Given the description of an element on the screen output the (x, y) to click on. 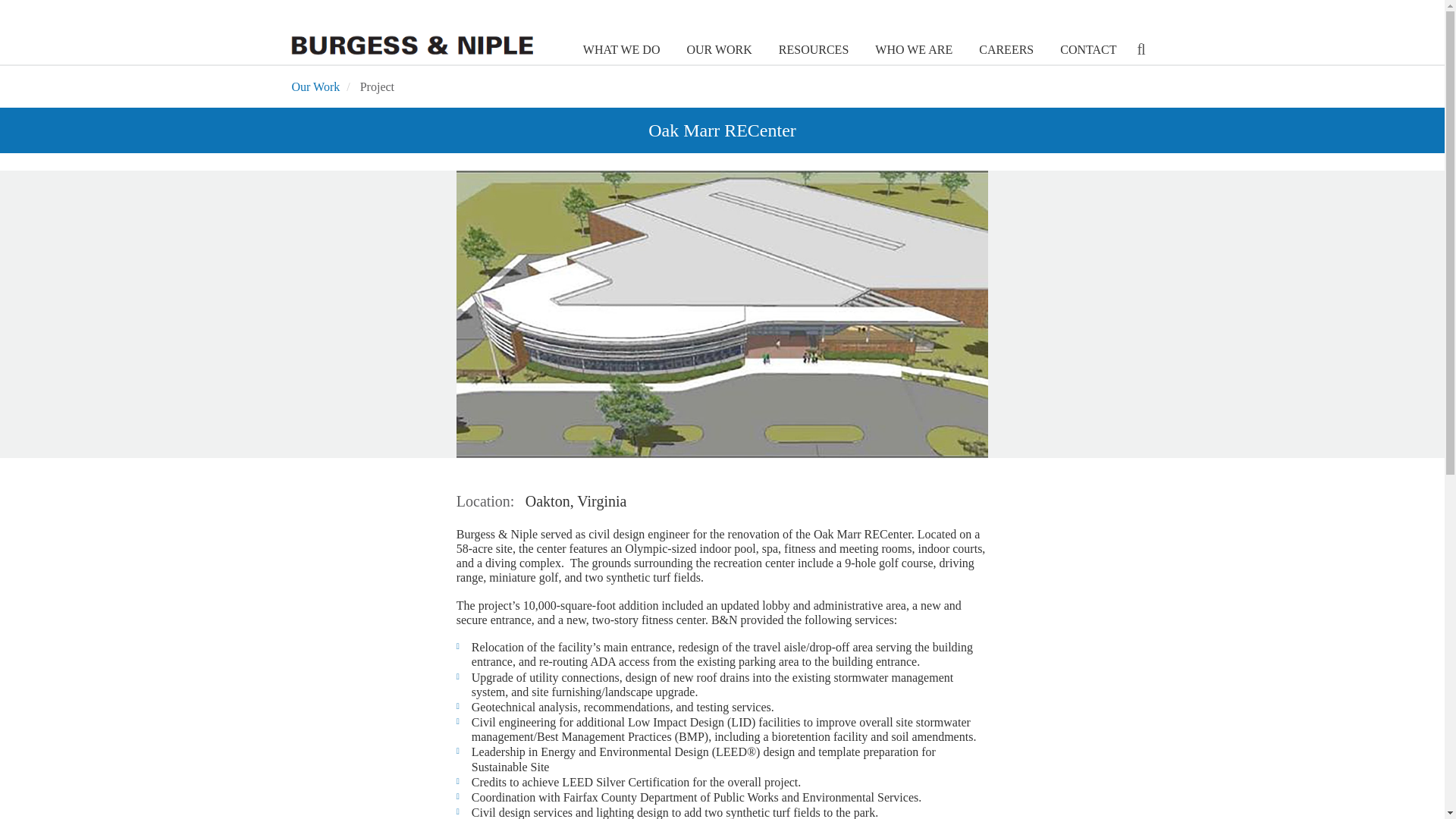
CONTACT (1085, 50)
OUR WORK (716, 50)
CAREERS (1004, 50)
RESOURCES (811, 50)
WHAT WE DO (619, 50)
WHO WE ARE (911, 50)
Skip to content (17, 1)
Our Work (315, 86)
